Given the description of an element on the screen output the (x, y) to click on. 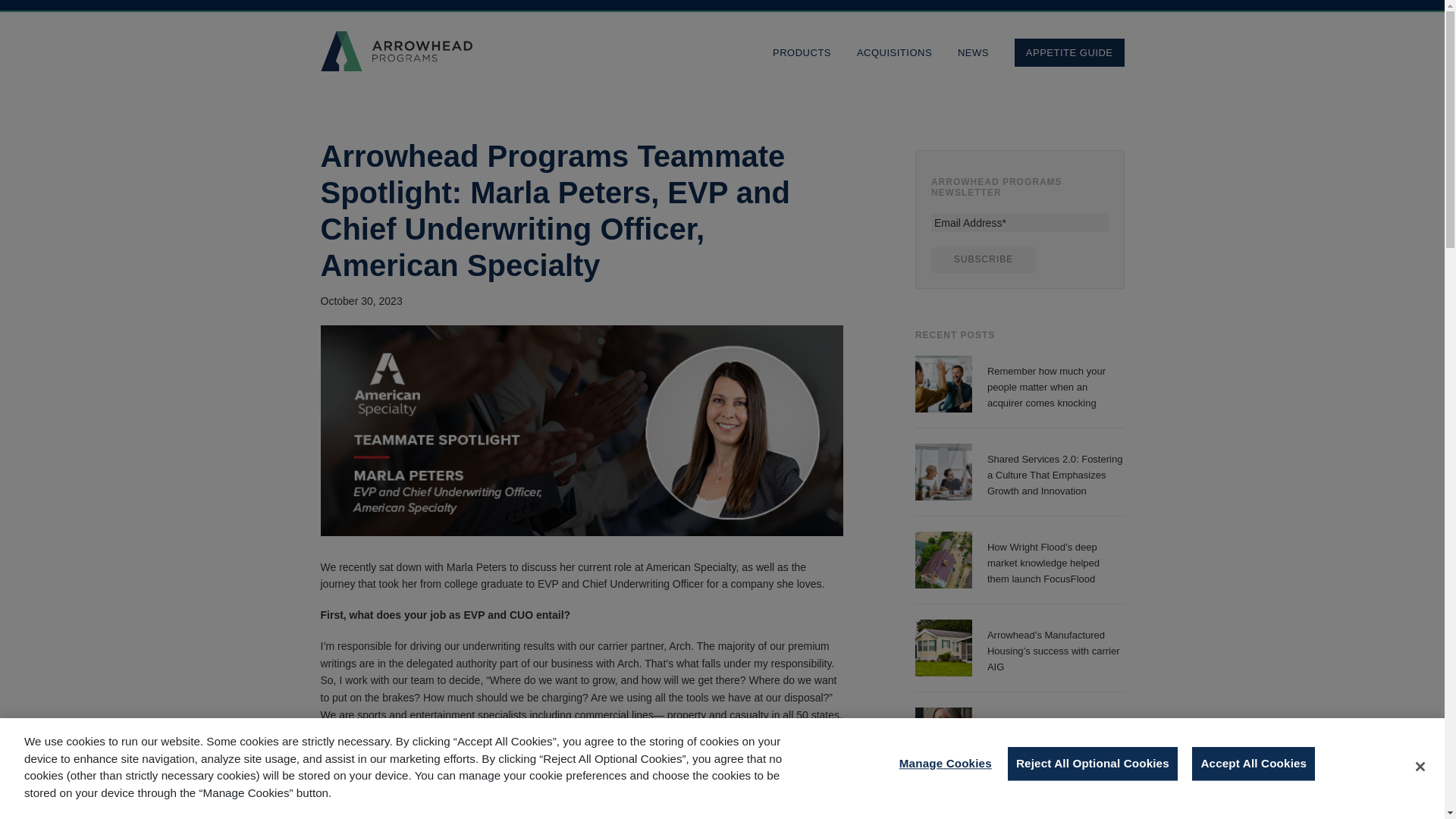
Subscribe (983, 259)
NEWS (973, 52)
PRODUCTS (802, 52)
Subscribe (983, 259)
APPETITE GUIDE (1069, 52)
ACQUISITIONS (894, 52)
